Given the description of an element on the screen output the (x, y) to click on. 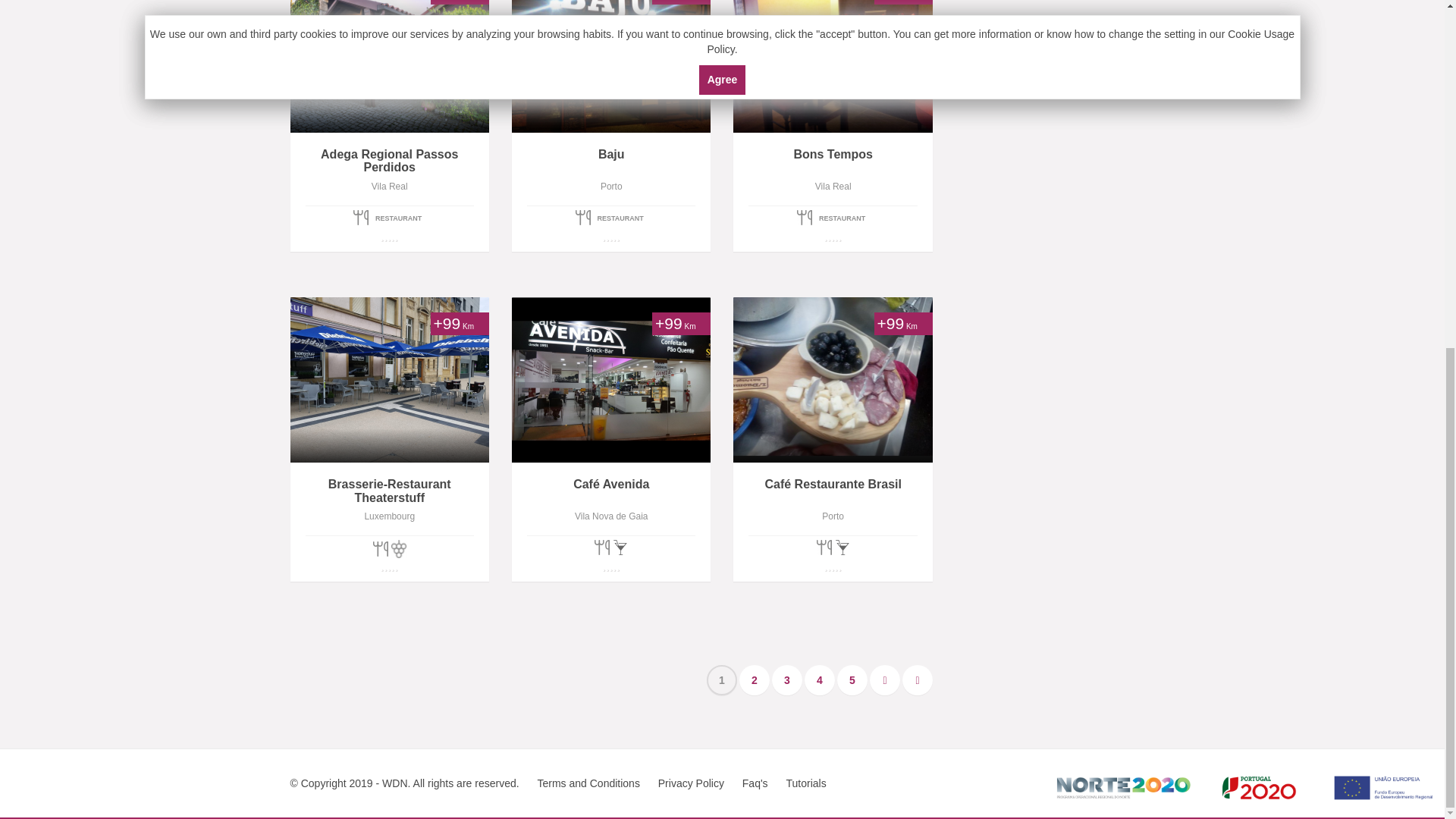
Brasserie-Restaurant Theaterstuff (388, 490)
Baju (611, 161)
Adega Regional Passos Perdidos (388, 161)
Bons Tempos (832, 161)
